Given the description of an element on the screen output the (x, y) to click on. 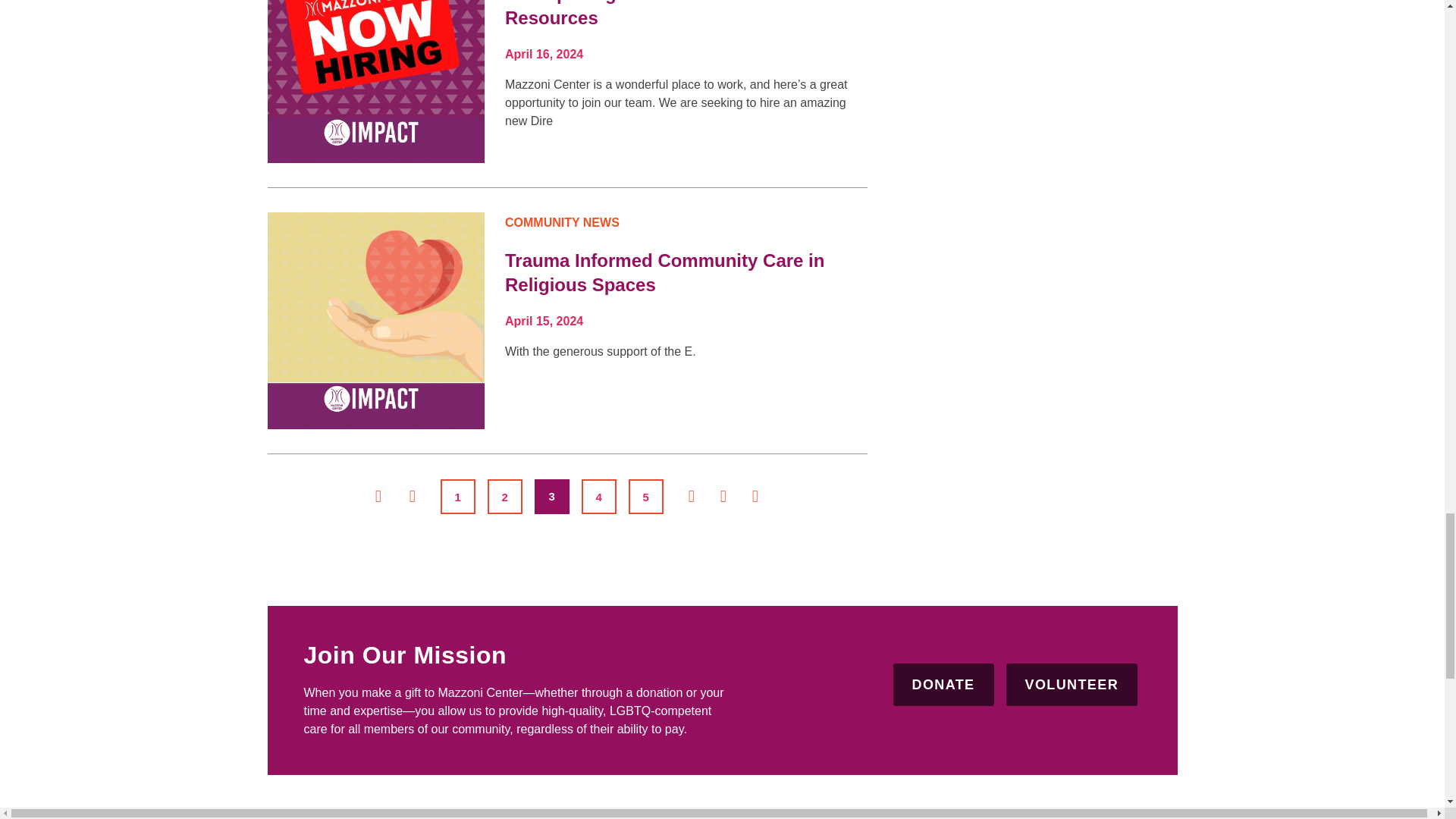
Go to page 4 (598, 496)
Go to page 2 (505, 496)
Go to page 1 (458, 496)
Go to page 5 (646, 496)
